Given the description of an element on the screen output the (x, y) to click on. 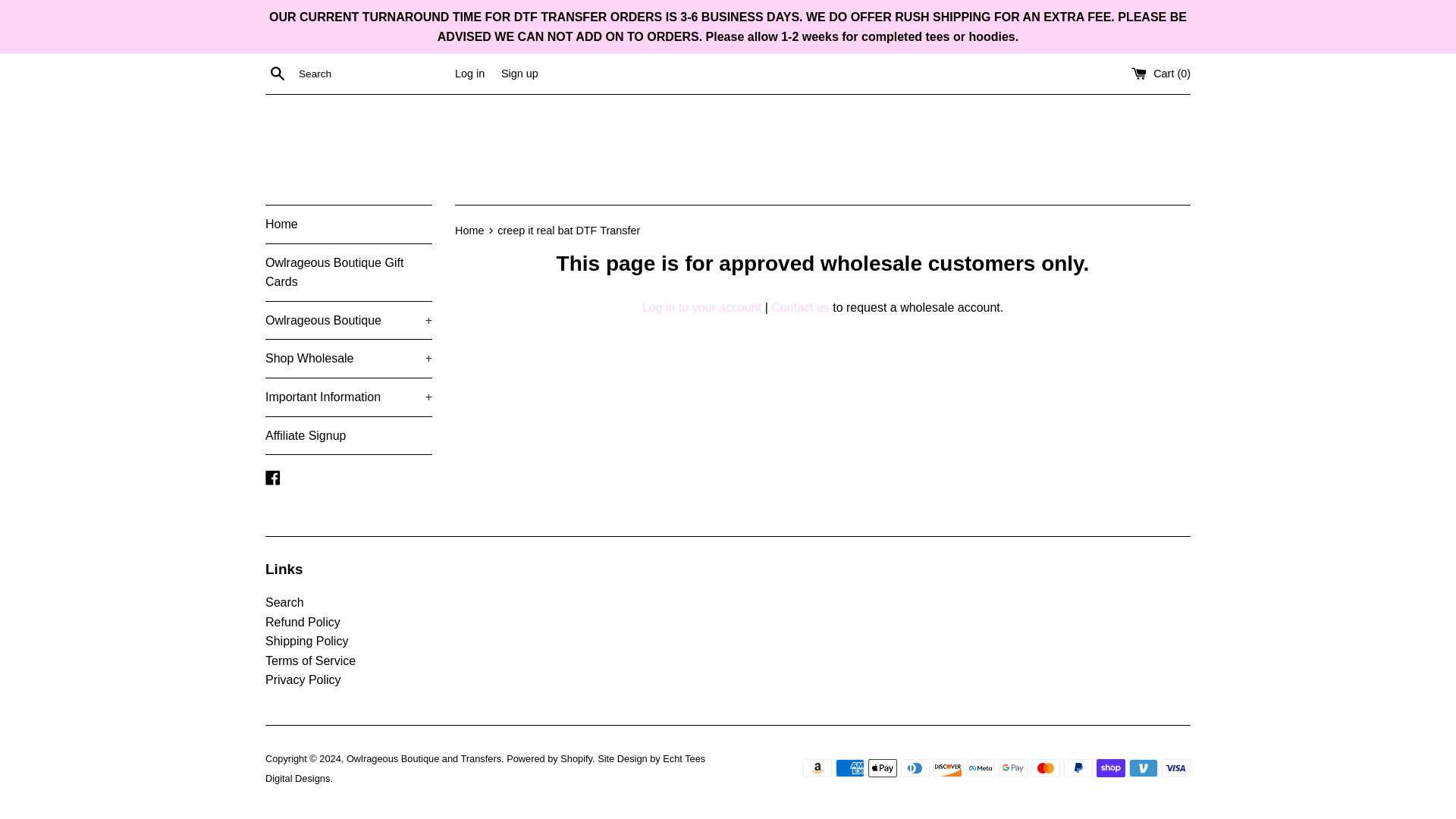
Diners Club (915, 768)
Sign up (519, 73)
Owlrageous Boutique Gift Cards (348, 272)
PayPal (1078, 768)
Mastercard (1044, 768)
Back to the frontpage (470, 230)
Meta Pay (980, 768)
Visa (1176, 768)
American Express (849, 768)
Log in (469, 73)
Discover (947, 768)
Search (276, 73)
Shop Pay (1110, 768)
Google Pay (1012, 768)
Owlrageous Boutique and Transfers on Facebook (272, 476)
